Given the description of an element on the screen output the (x, y) to click on. 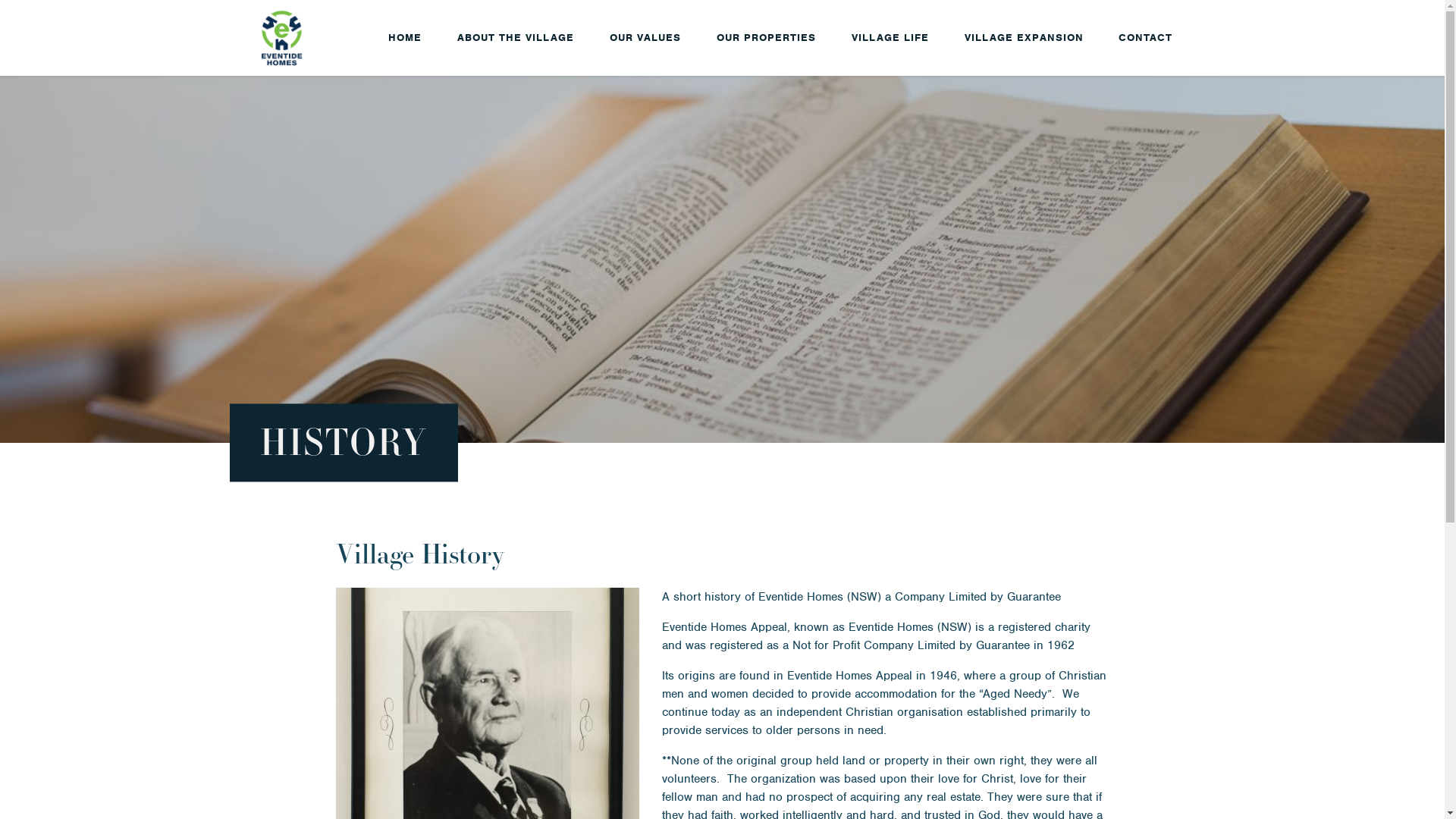
OUR VALUES Element type: text (644, 37)
VILLAGE EXPANSION Element type: text (1023, 37)
OUR PROPERTIES Element type: text (765, 37)
ABOUT THE VILLAGE Element type: text (515, 37)
VILLAGE LIFE Element type: text (889, 37)
CONTACT Element type: text (1145, 37)
HOME Element type: text (404, 37)
